Given the description of an element on the screen output the (x, y) to click on. 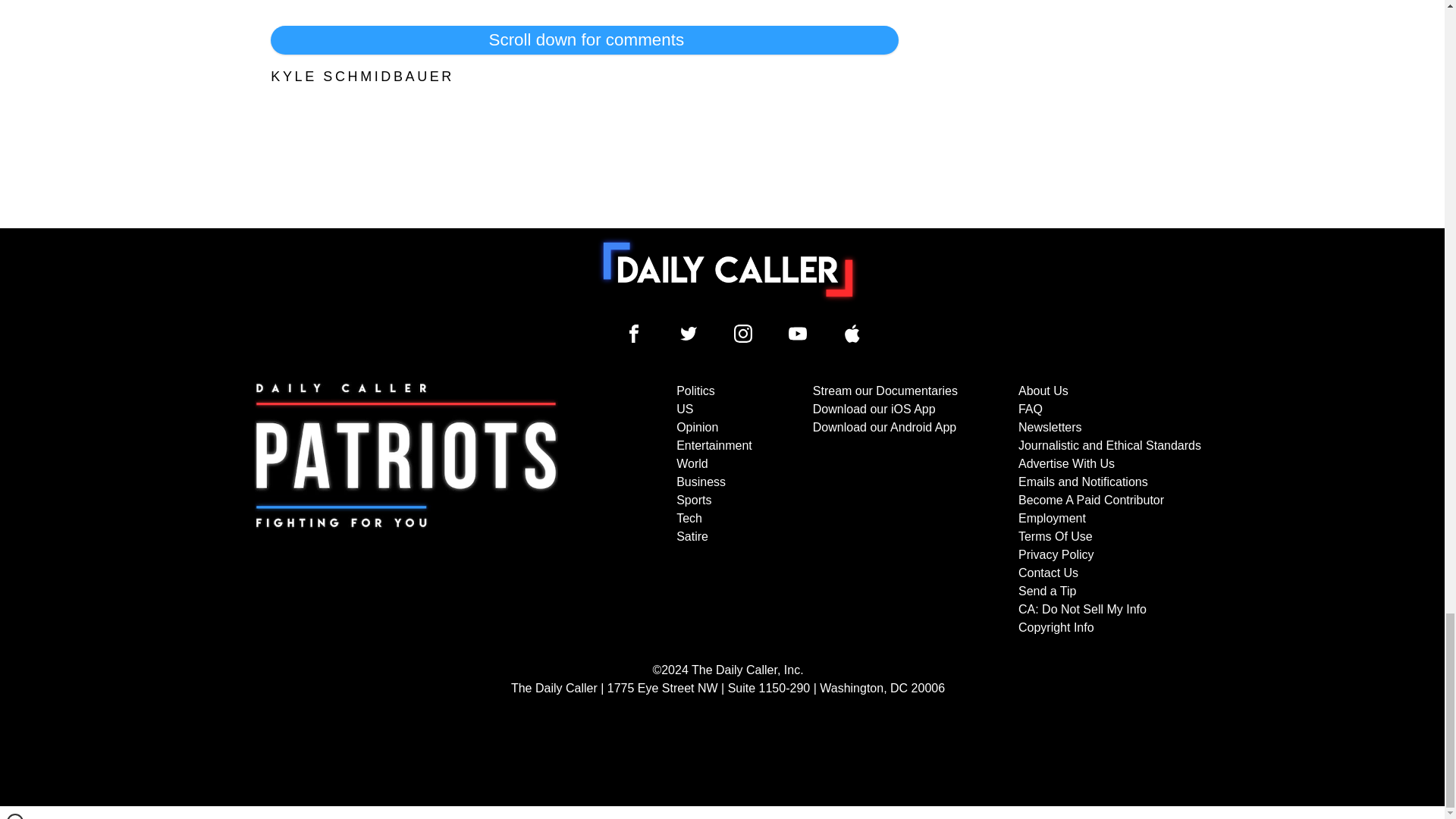
Daily Caller YouTube (797, 333)
Daily Caller Instagram (742, 333)
Daily Caller Facebook (633, 333)
To home page (727, 269)
Daily Caller YouTube (852, 333)
Daily Caller Twitter (688, 333)
Scroll down for comments (584, 39)
Subscribe to The Daily Caller (405, 509)
